Given the description of an element on the screen output the (x, y) to click on. 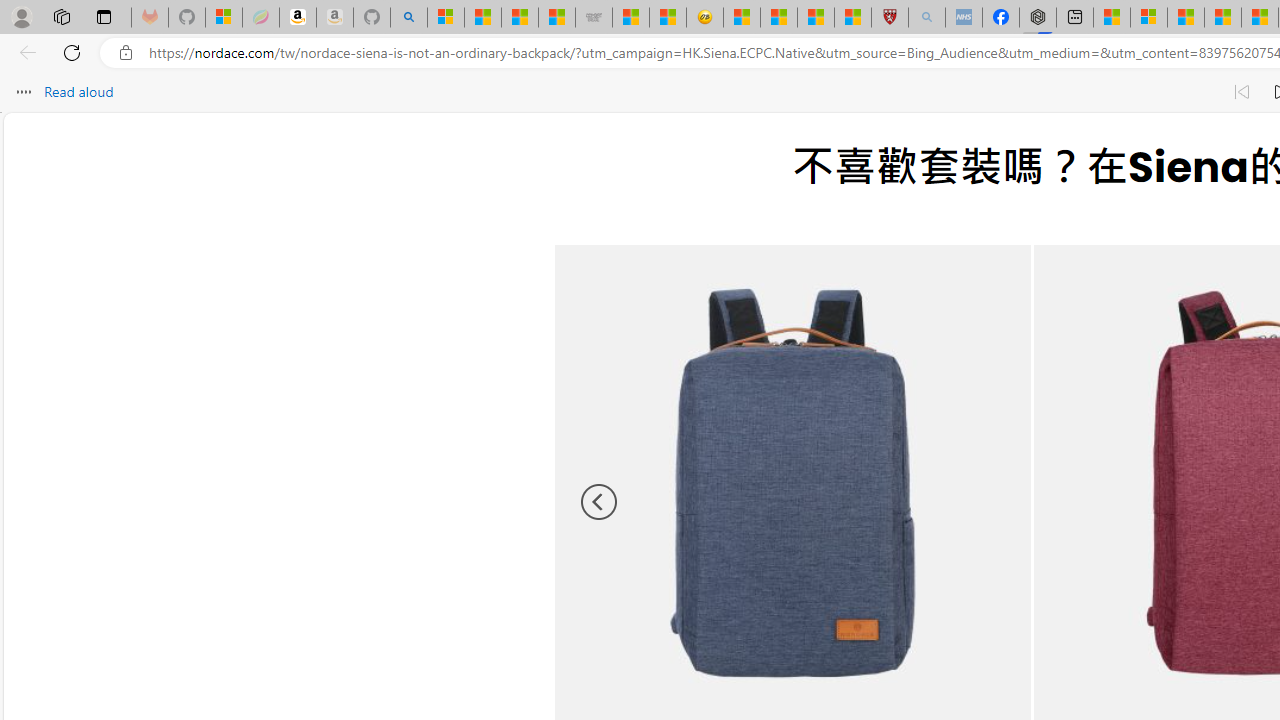
Previous (599, 501)
Read previous paragraph (1241, 92)
Class: flickity-button-icon (599, 502)
